Given the description of an element on the screen output the (x, y) to click on. 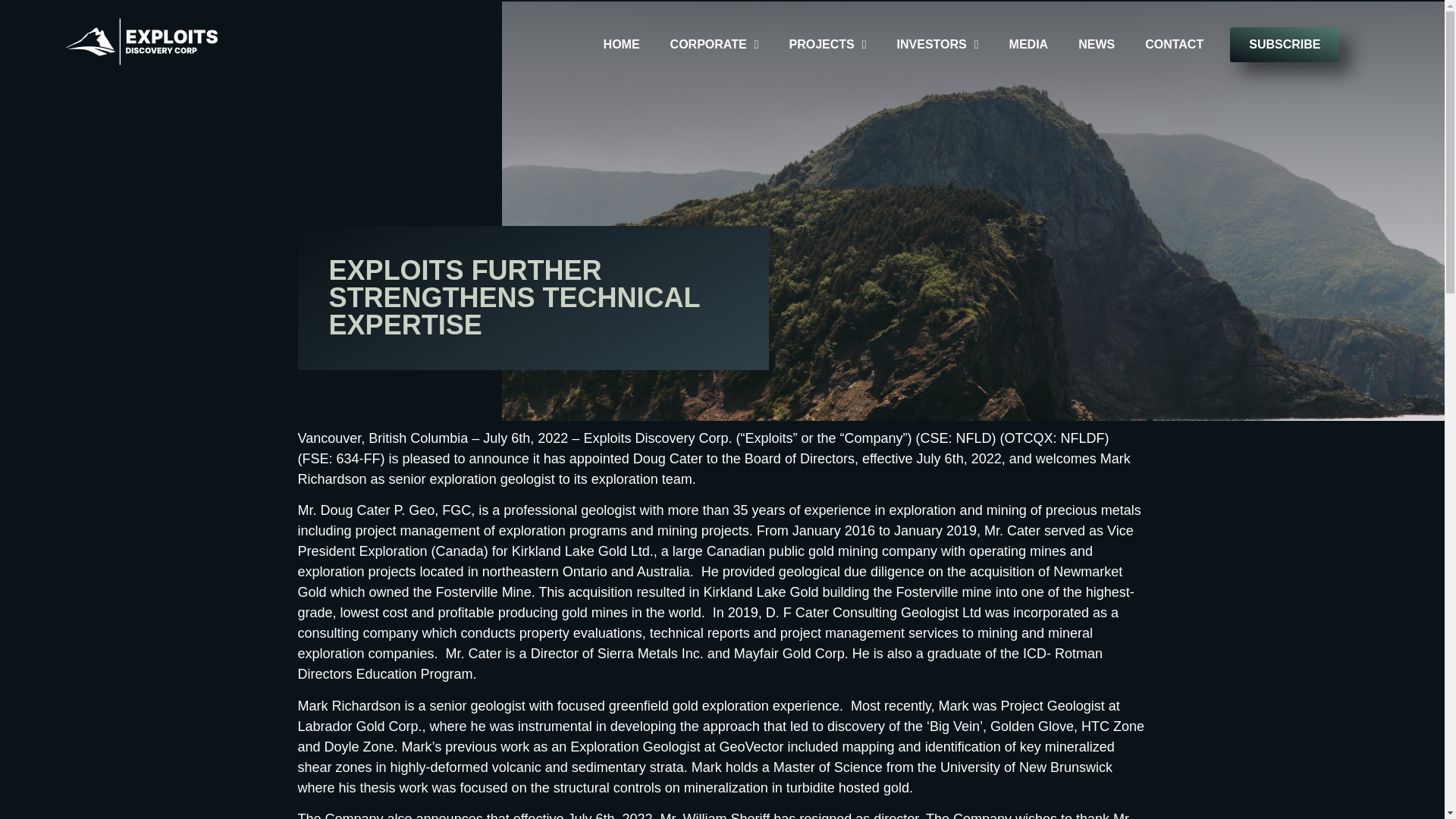
INVESTORS (937, 44)
HOME (621, 44)
CONTACT (1174, 44)
MEDIA (1028, 44)
NEWS (1096, 44)
PROJECTS (827, 44)
CORPORATE (714, 44)
